Given the description of an element on the screen output the (x, y) to click on. 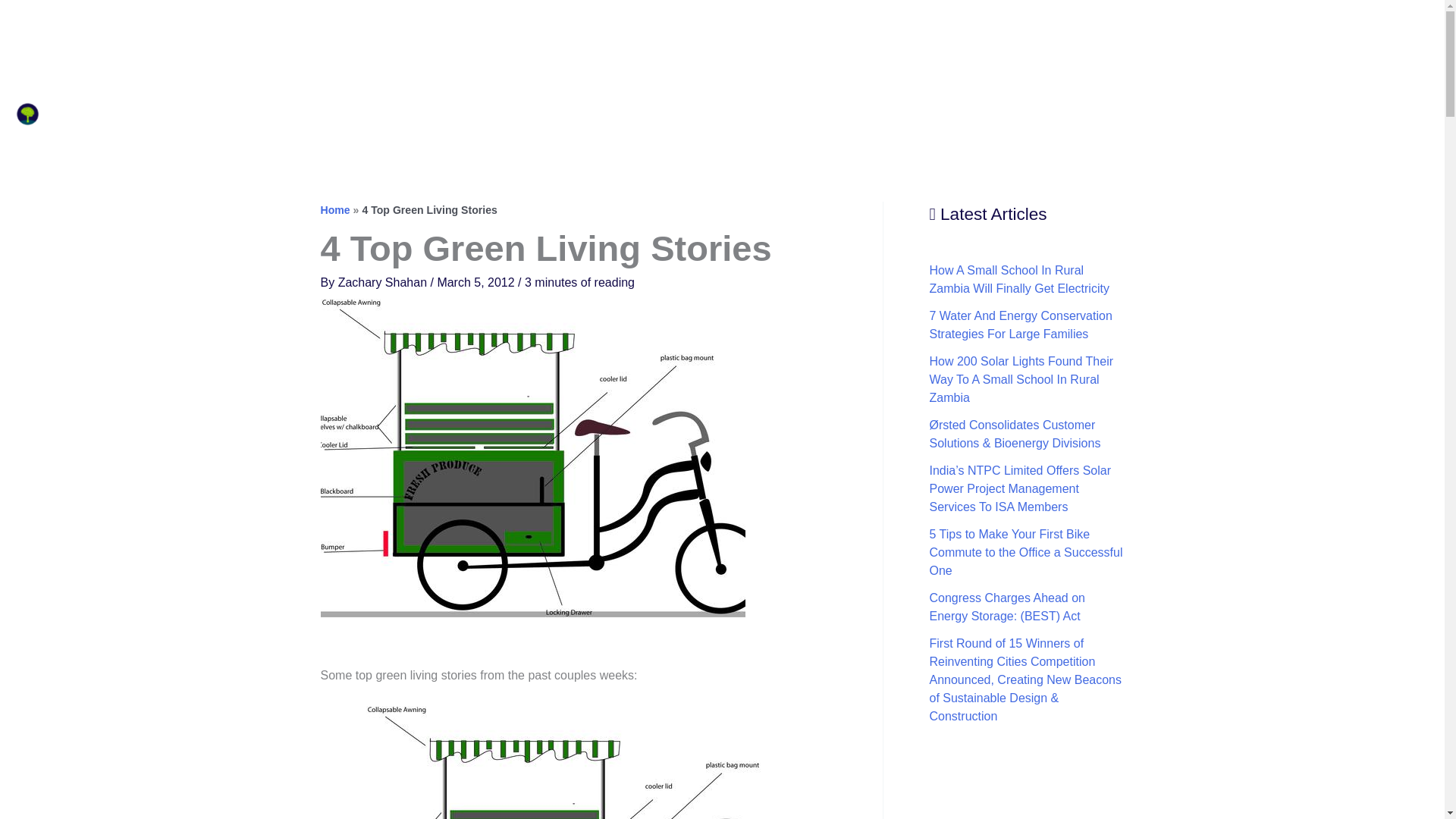
Advertisement (721, 33)
View all posts by Zachary Shahan (383, 282)
veggie trike (578, 762)
